Given the description of an element on the screen output the (x, y) to click on. 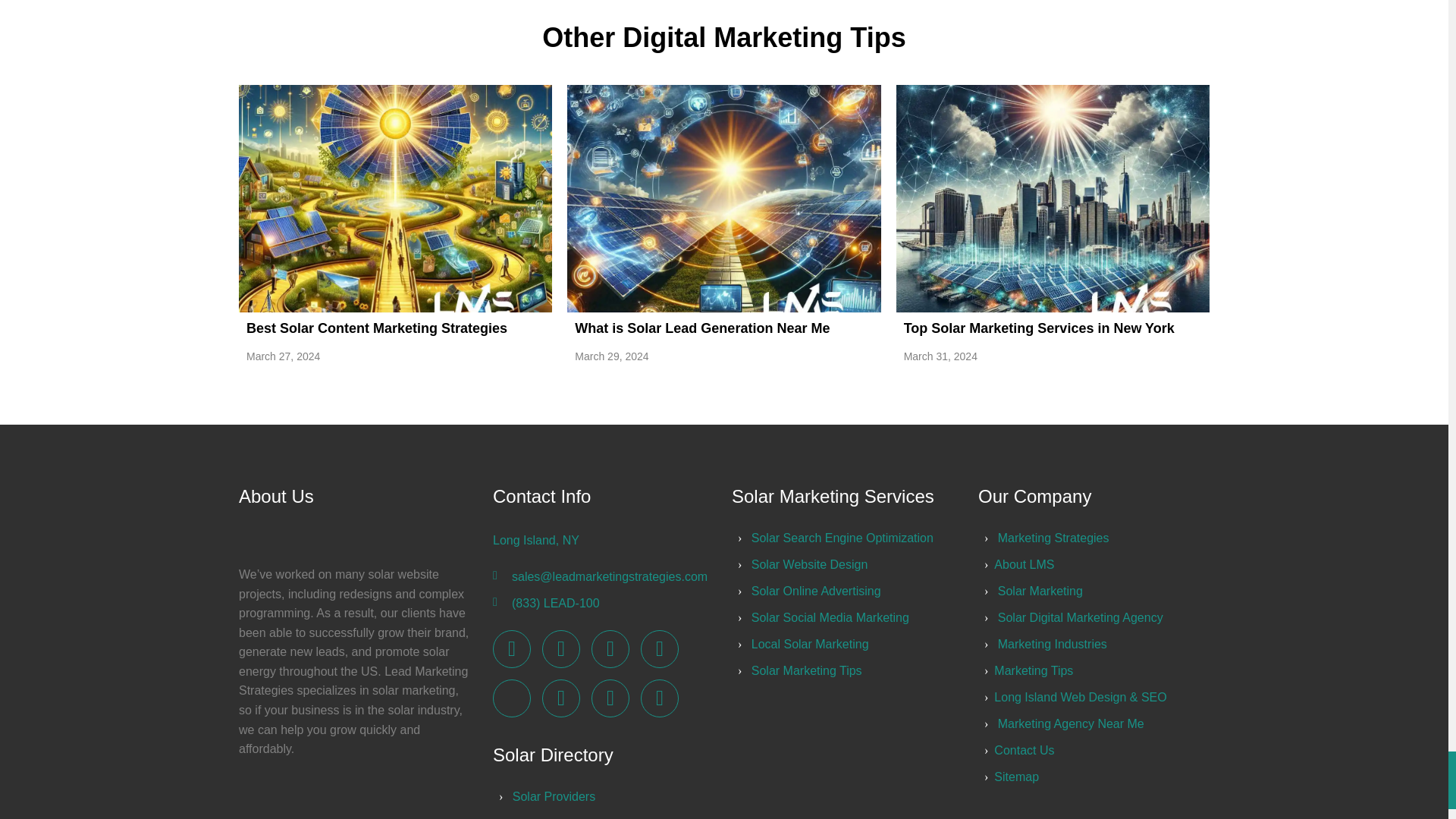
Lead Marketing Strategies (659, 648)
Lead Marketing Strategies (609, 698)
SEO Copywriting (829, 617)
PPC Advertising (809, 563)
Solar Marketing Tips (806, 670)
Lead Marketing Strategies (560, 698)
Search Engine Optimization (842, 537)
Local Solar Marketing (810, 644)
Lead Marketing Strategies (512, 648)
Lead Marketing Strategies (560, 648)
Lead Marketing Strategies (659, 698)
Lead Marketing Strategies (1053, 537)
Reputation Management (815, 590)
Lead Marketing Strategies (609, 648)
